Given the description of an element on the screen output the (x, y) to click on. 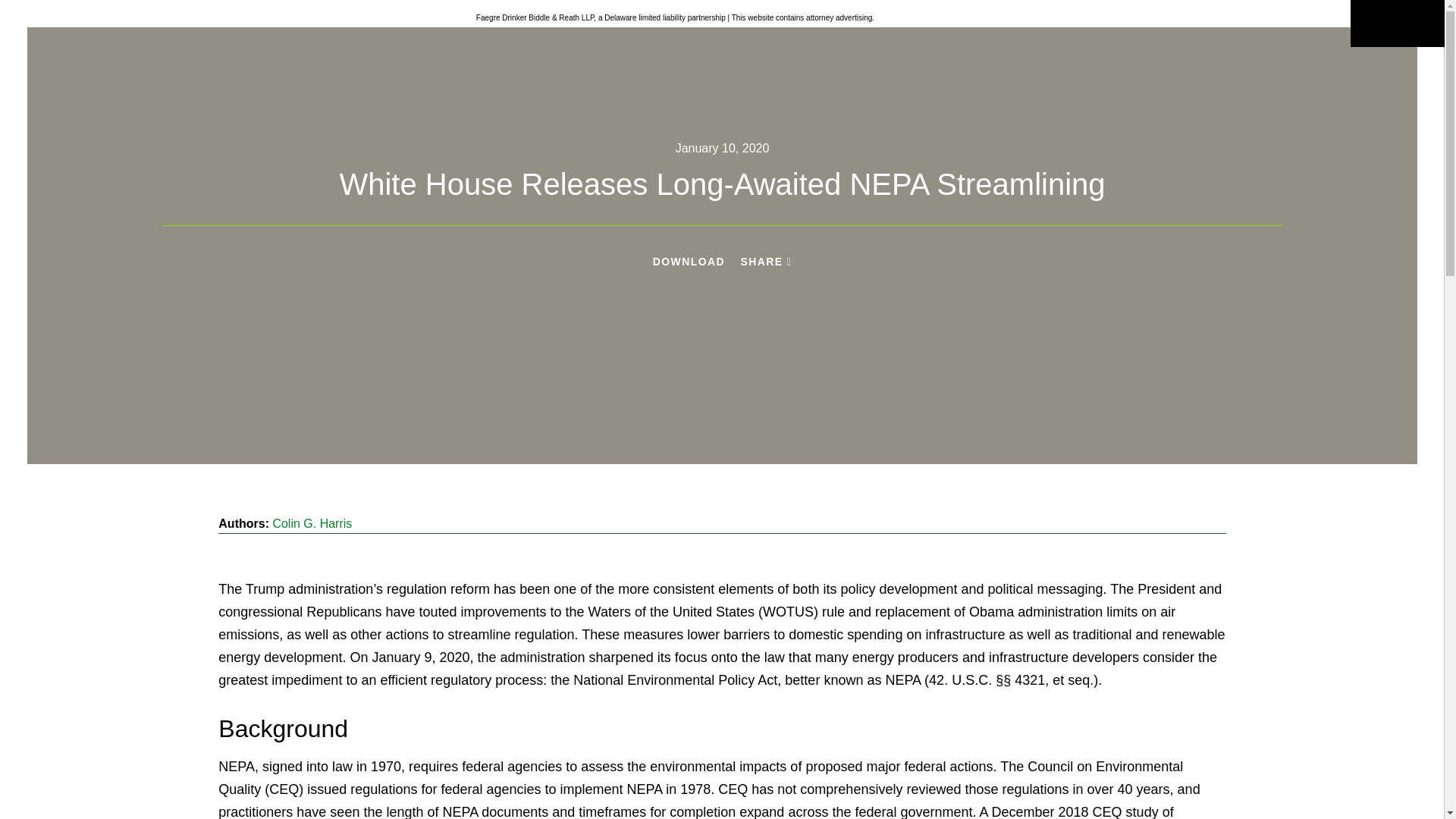
SHARE (765, 262)
DOWNLOAD (688, 261)
Colin G. Harris (312, 522)
